Given the description of an element on the screen output the (x, y) to click on. 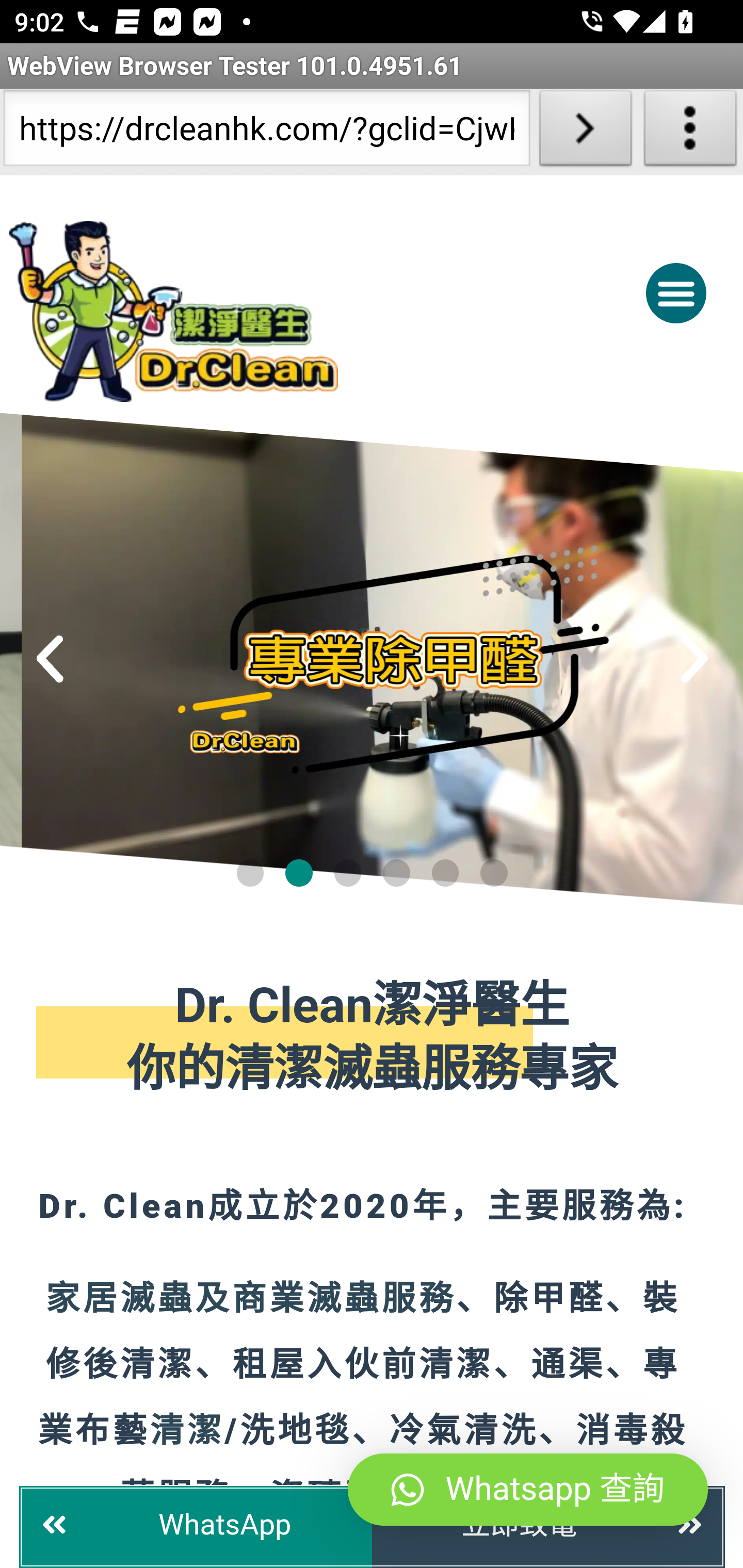
Load URL (585, 132)
About WebView (690, 132)
drcleanhk (254, 309)
Menu Toggle (675, 292)
Previous slide (50, 659)
Next slide (694, 659)
Go to slide 1 (248, 872)
Go to slide 2 (299, 872)
Go to slide 3 (347, 872)
Go to slide 4 (396, 872)
Go to slide 5 (444, 872)
Go to slide 6 (494, 872)
Dr. Clean潔淨醫生 你的清潔滅蟲服務專家 (372, 1038)
 Whatsapp 查詢 (527, 1490)
